Given the description of an element on the screen output the (x, y) to click on. 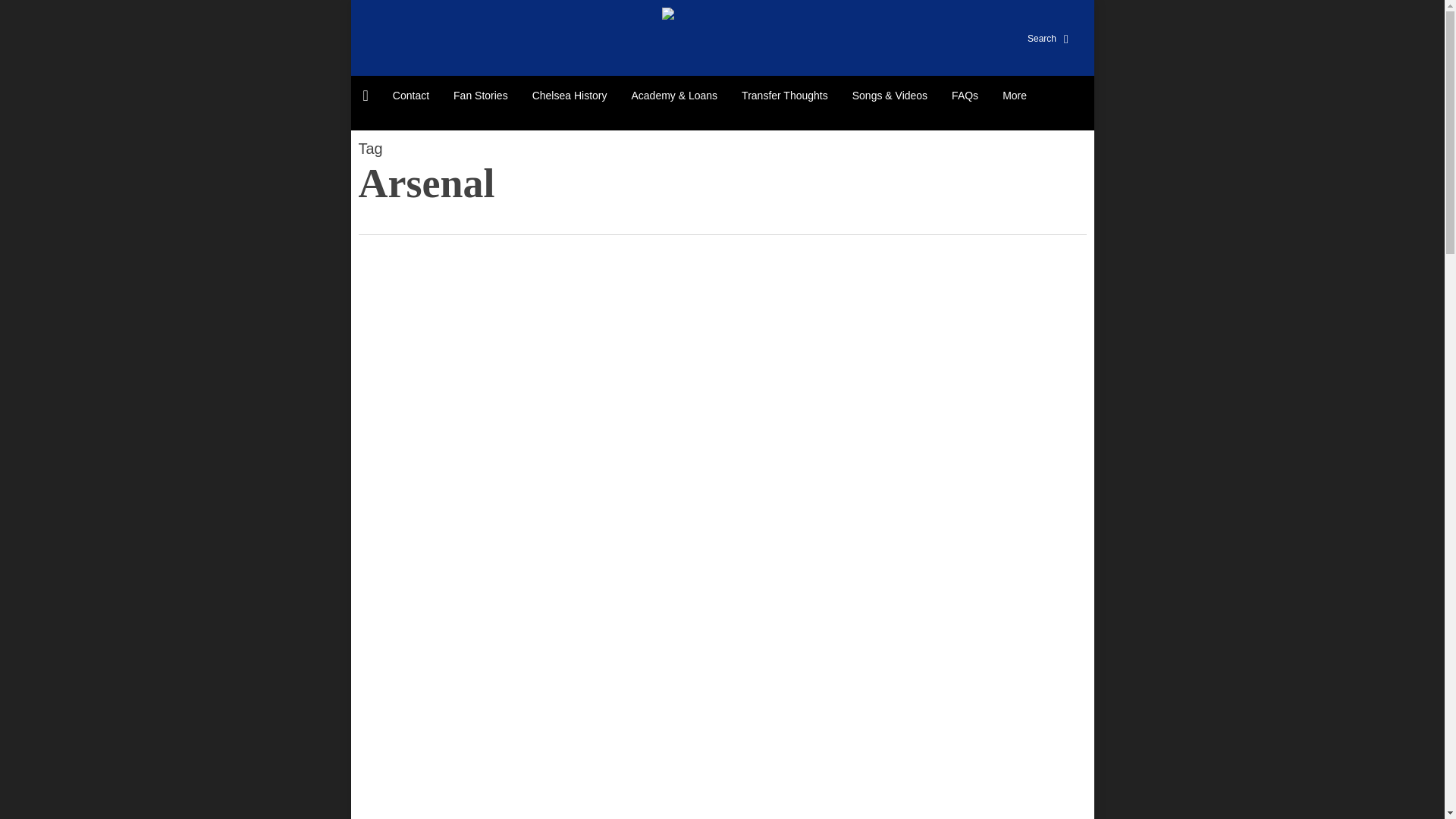
Chelsea History (569, 95)
Contact (410, 95)
Fan Stories (480, 95)
search (1036, 38)
Transfer Thoughts (784, 95)
More (1014, 95)
FAQs (964, 95)
